Given the description of an element on the screen output the (x, y) to click on. 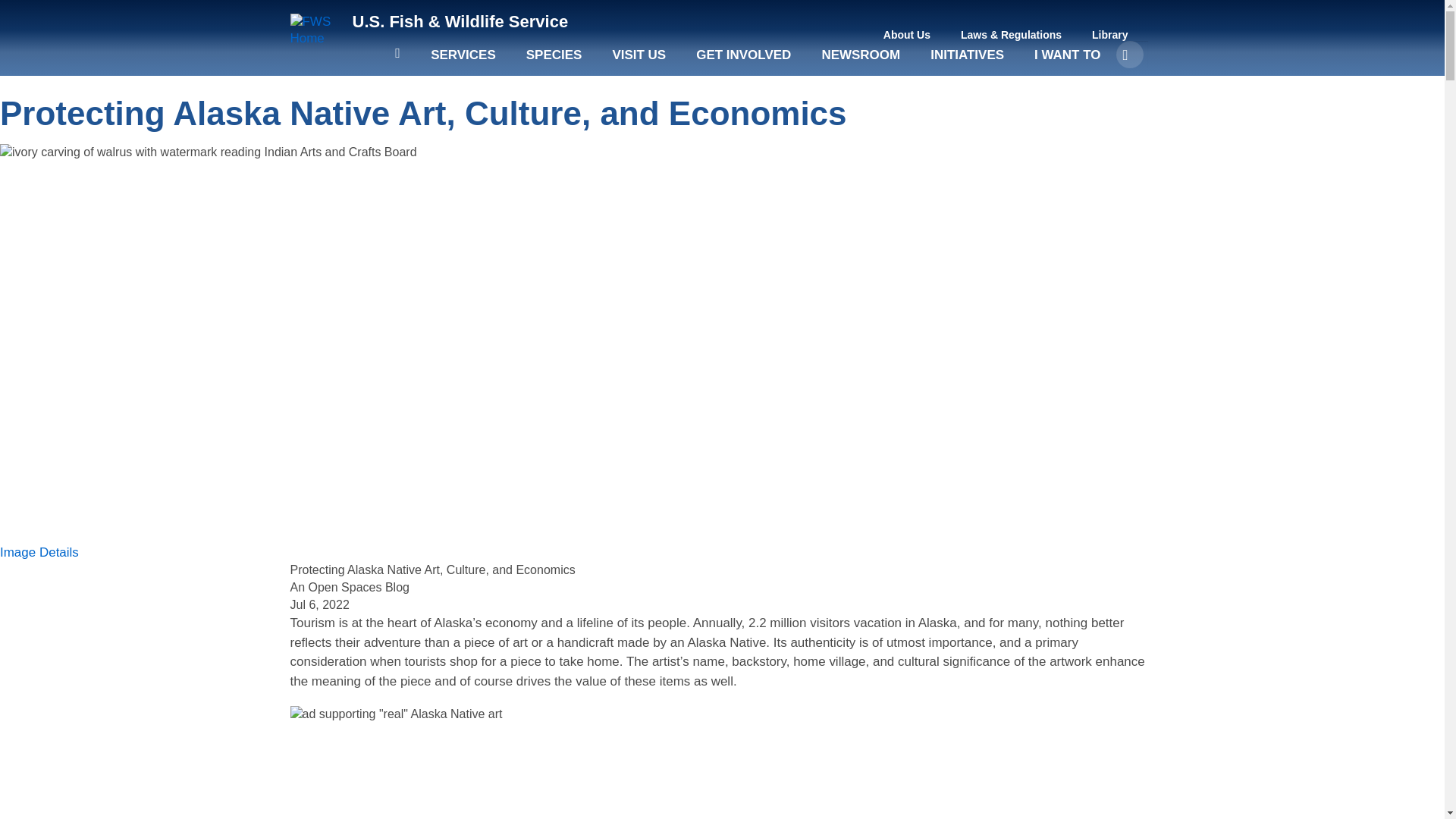
FWS Home (459, 21)
Access services provided by FWS (463, 62)
SERVICES (463, 62)
Library (1109, 34)
FWS Home (314, 29)
About Us (906, 34)
